Given the description of an element on the screen output the (x, y) to click on. 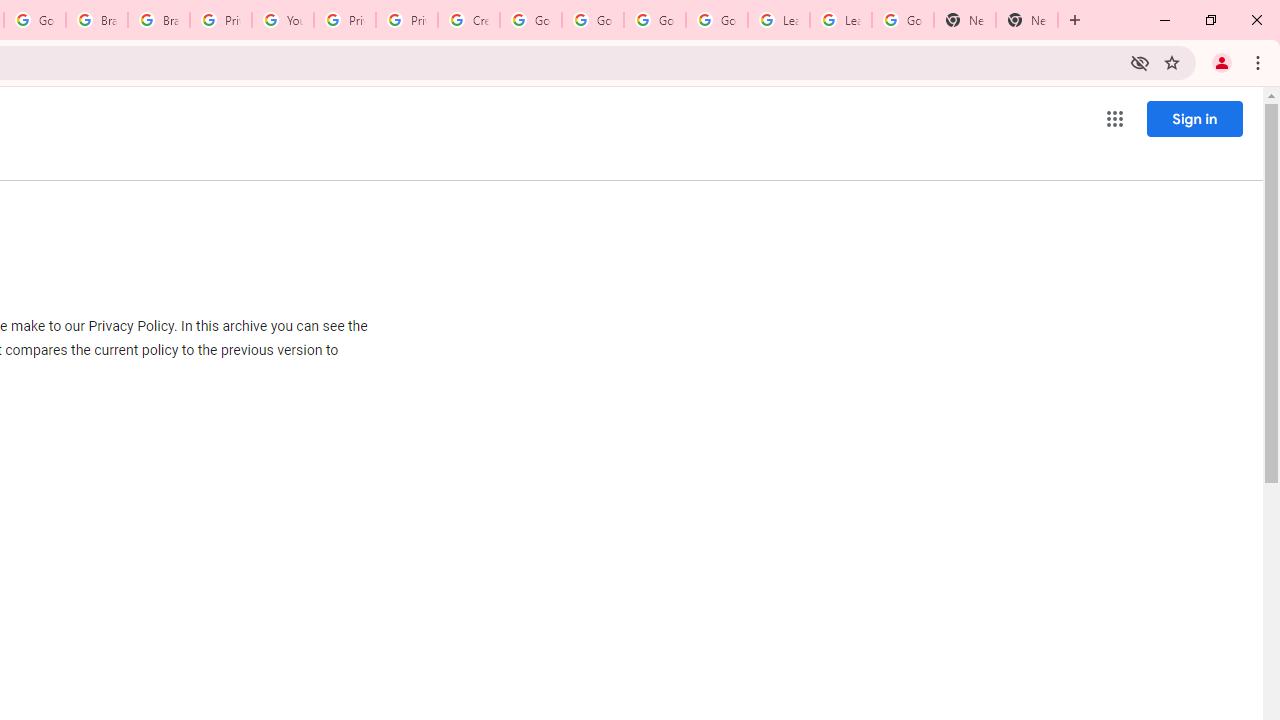
Google Account Help (530, 20)
Google Account (902, 20)
New Tab (964, 20)
Google Account Help (716, 20)
YouTube (282, 20)
Google Account Help (654, 20)
